Given the description of an element on the screen output the (x, y) to click on. 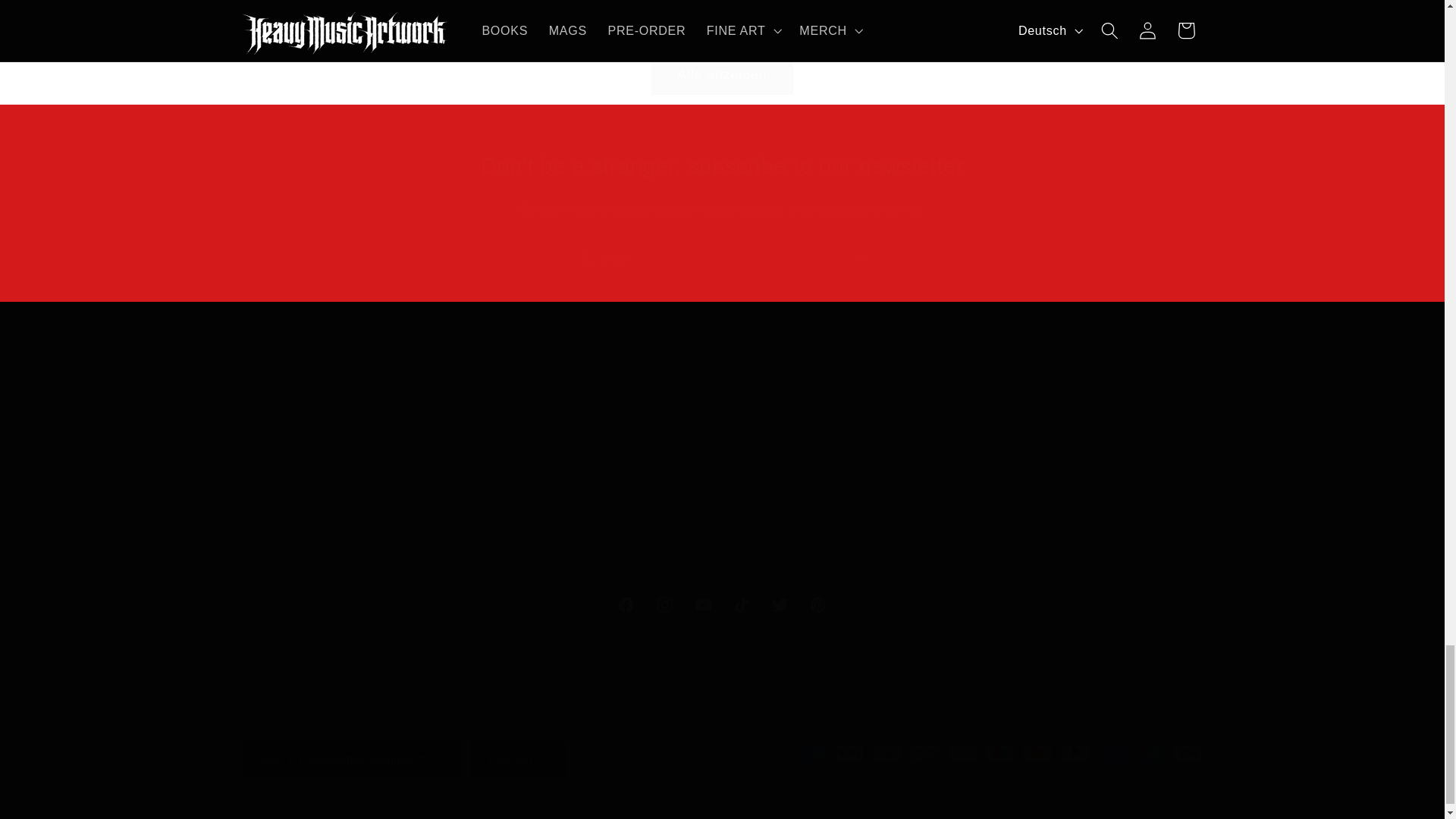
Don't be a stranger, subscribe to our newsletter (722, 166)
E-Mail (722, 259)
